Given the description of an element on the screen output the (x, y) to click on. 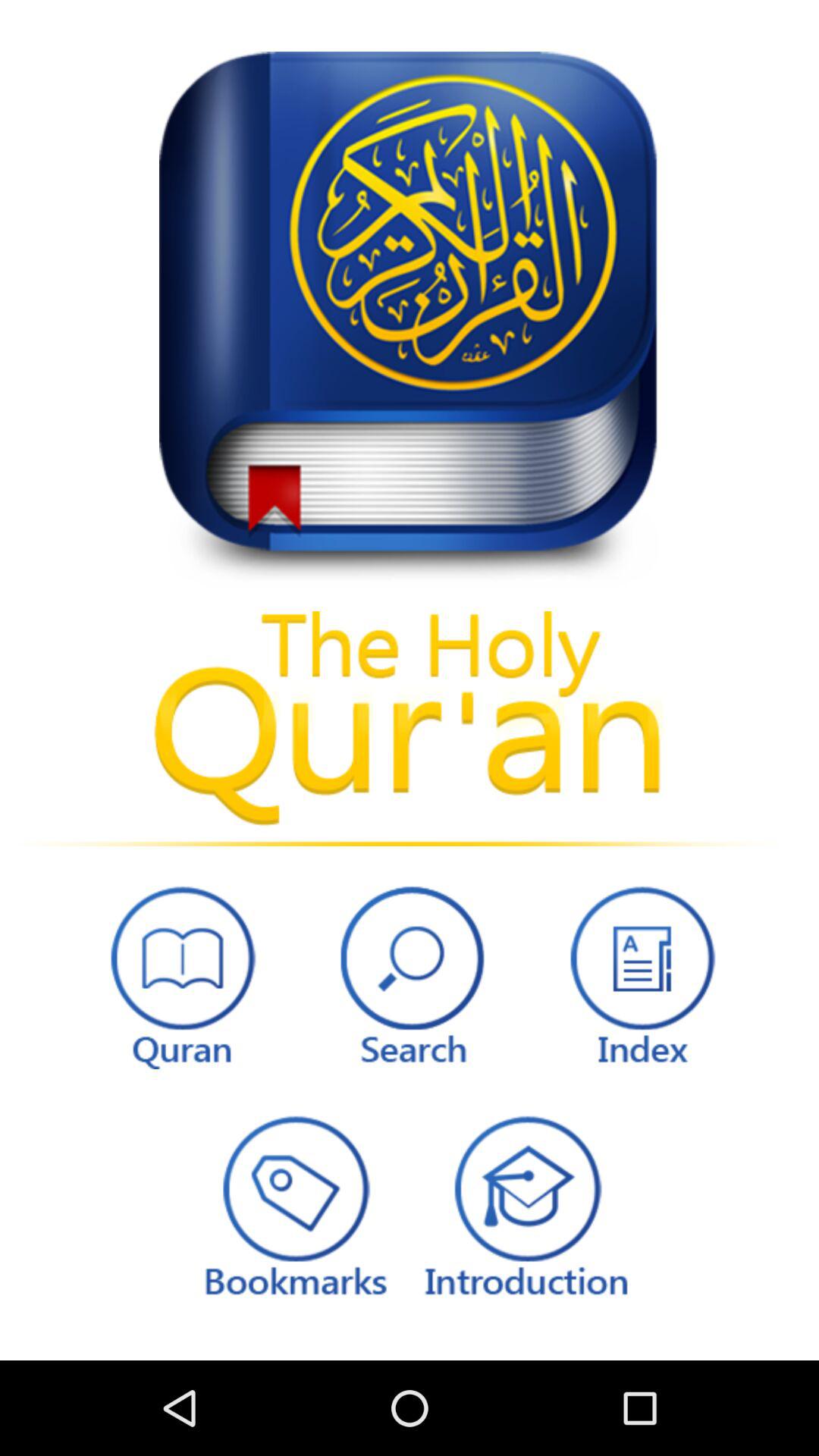
books marks button (292, 1204)
